Given the description of an element on the screen output the (x, y) to click on. 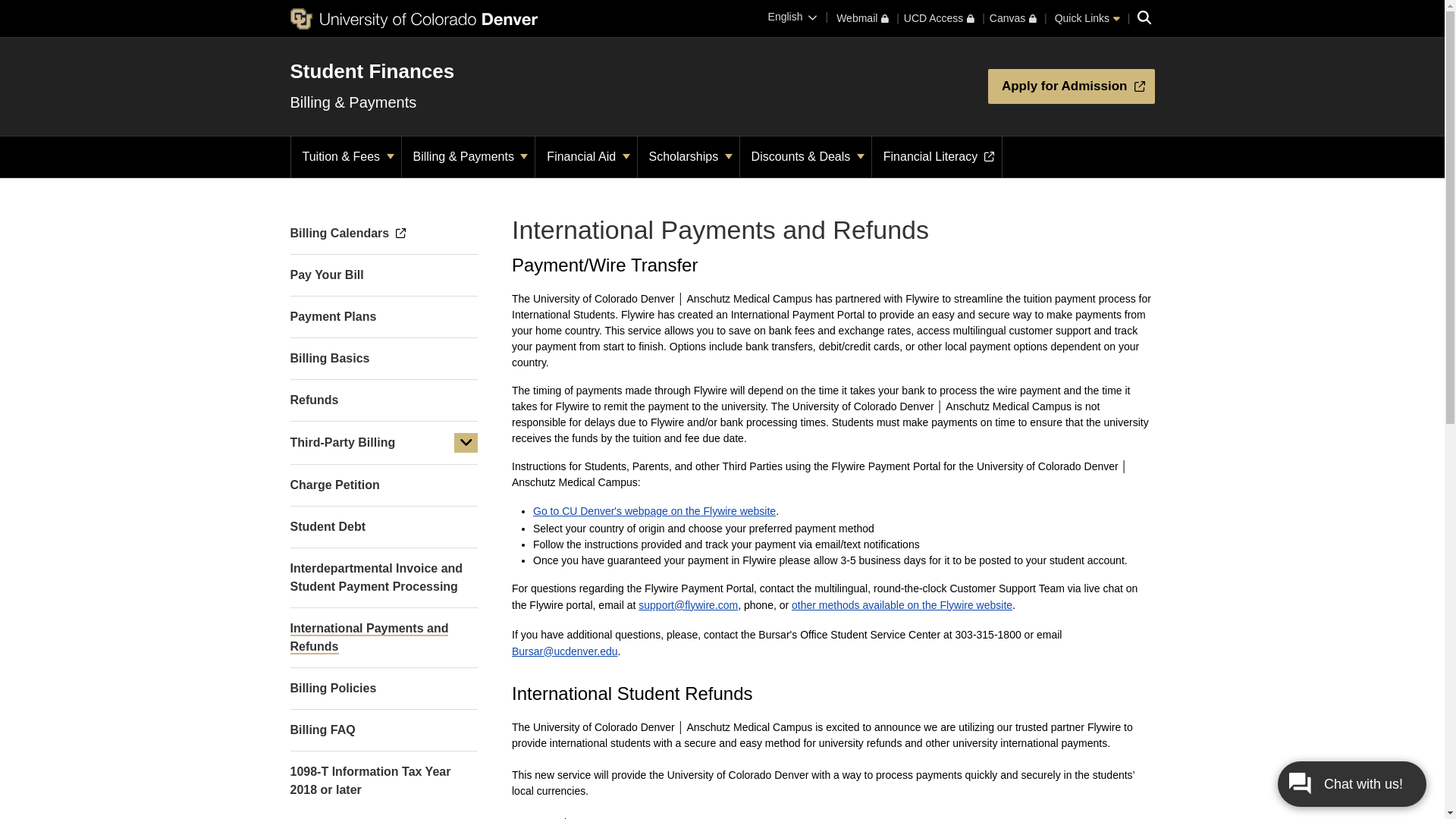
Quick Links (1086, 18)
Student Finances (371, 70)
English (792, 17)
UCD Access (939, 18)
Canvas (1013, 18)
Webmail (861, 18)
